Given the description of an element on the screen output the (x, y) to click on. 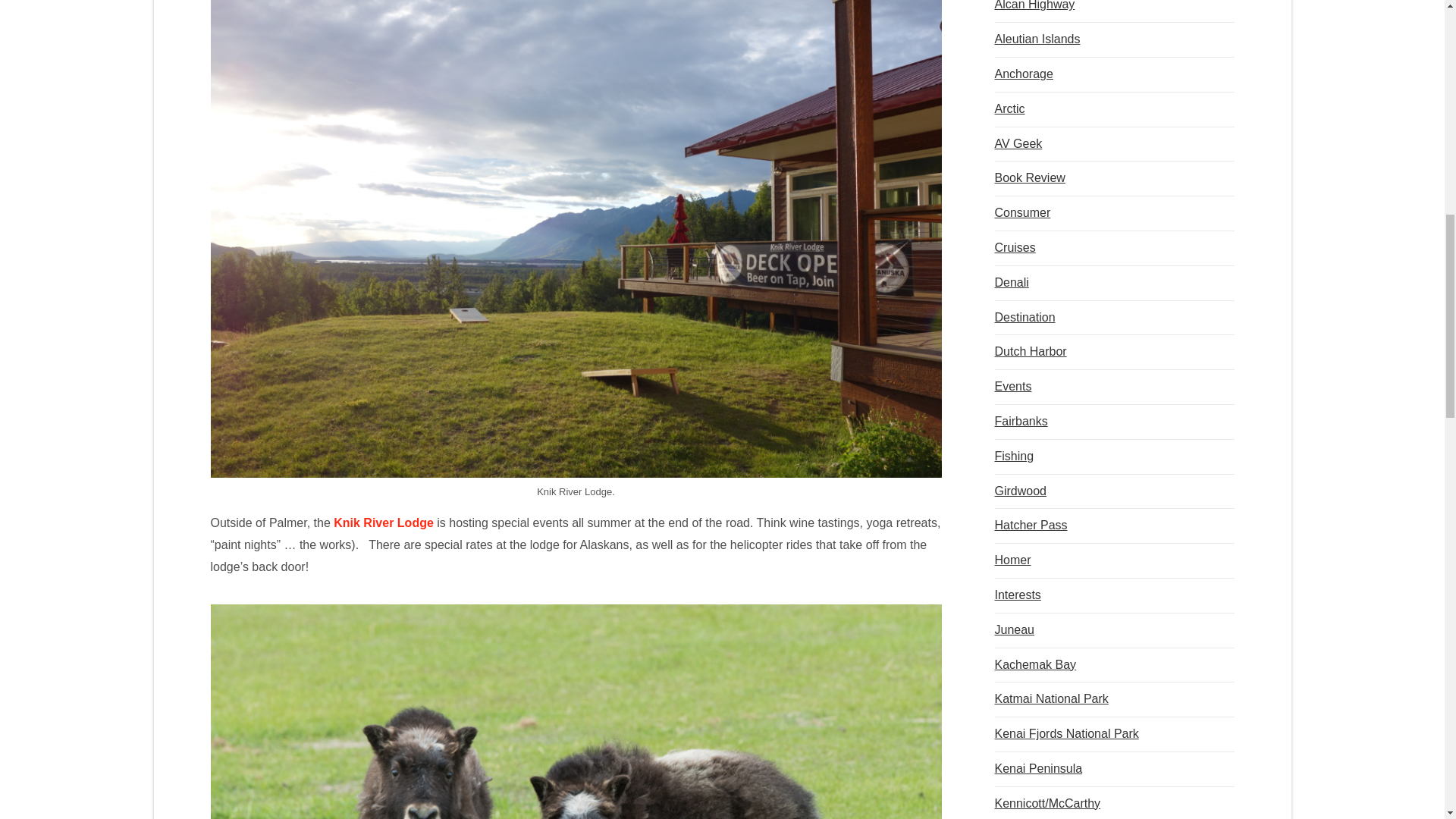
Knik River Lodge (383, 522)
